Given the description of an element on the screen output the (x, y) to click on. 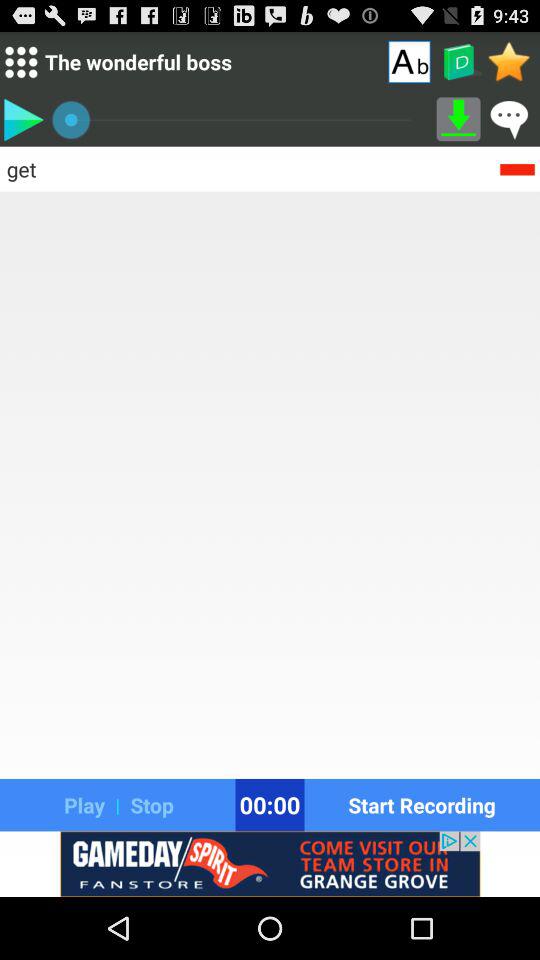
fonts (409, 61)
